Given the description of an element on the screen output the (x, y) to click on. 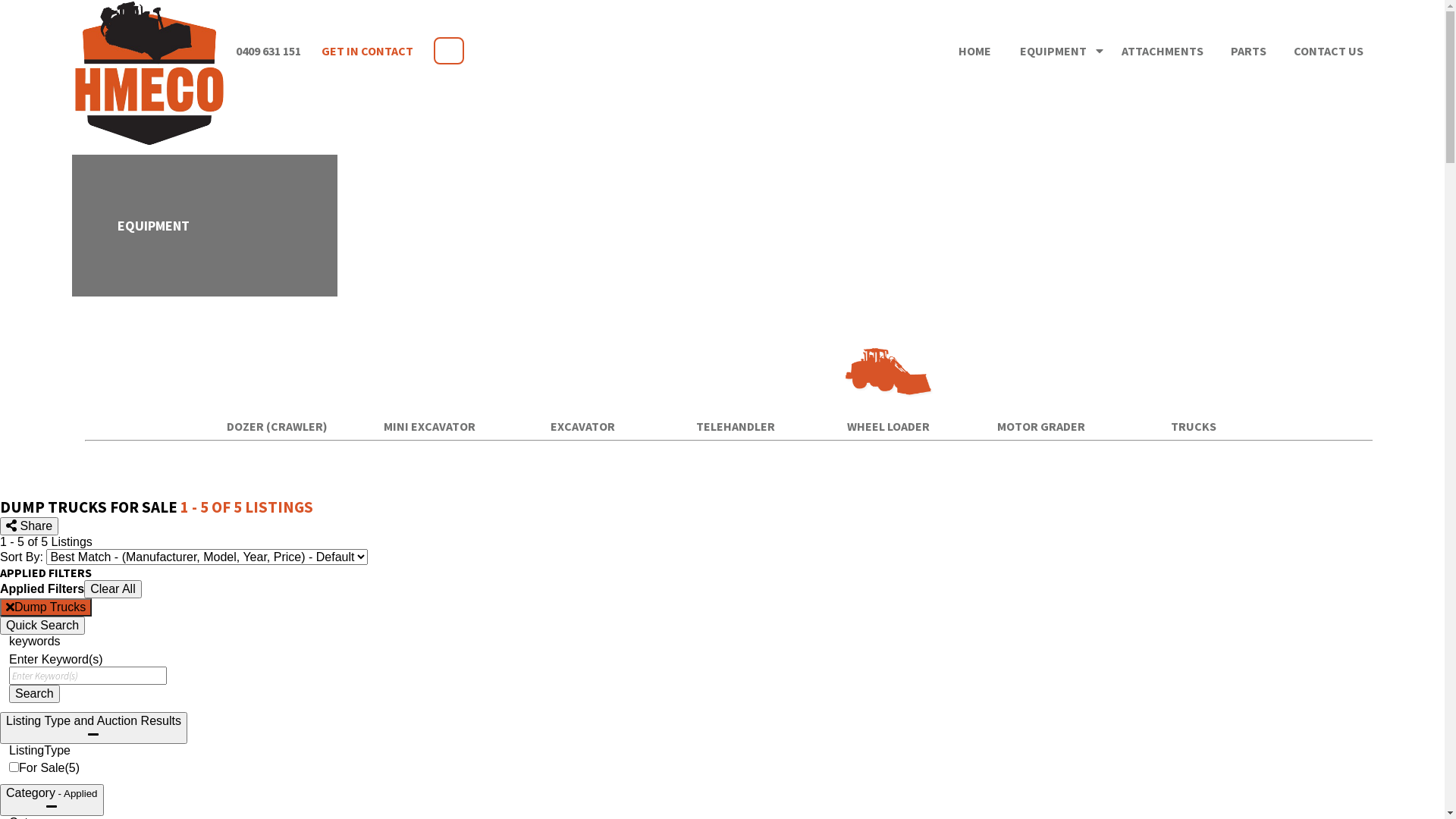
TRUCKS Element type: text (1193, 426)
PARTS Element type: text (1248, 50)
GET IN CONTACT Element type: text (367, 50)
MINI EXCAVATOR Element type: text (429, 426)
Clear All Element type: text (112, 589)
Dump Trucks Element type: text (45, 607)
Category - Applied Element type: text (51, 799)
Listing Type and Auction Results Element type: text (93, 727)
Quick Search Element type: text (42, 625)
ATTACHMENTS Element type: text (1162, 50)
Search Element type: text (34, 693)
EQUIPMENT     Element type: text (1061, 50)
WHEEL LOADER Element type: text (888, 426)
CONTACT US Element type: text (1328, 50)
HOME Element type: text (974, 50)
DOZER (CRAWLER) Element type: text (276, 426)
Share Element type: text (29, 526)
EXCAVATOR Element type: text (582, 426)
TELEHANDLER Element type: text (734, 426)
MOTOR GRADER Element type: text (1040, 426)
